Given the description of an element on the screen output the (x, y) to click on. 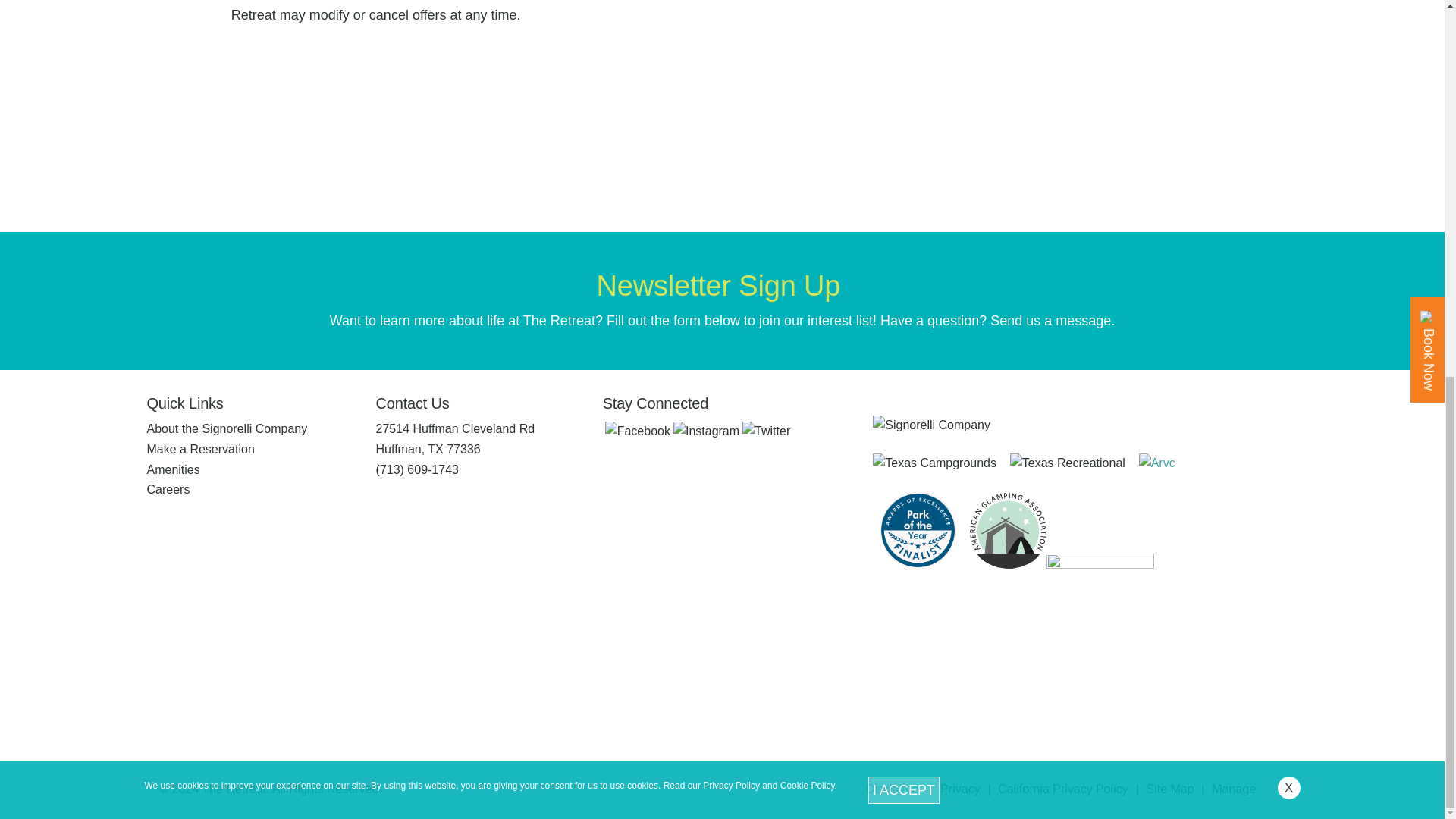
27514 Huffman Cleveland Rd (455, 428)
Make a Reservation (200, 449)
Amenities (173, 469)
Texas Recreational Vehicle Association (1067, 462)
Huffman, TX 77336 (427, 449)
Arvc (1149, 462)
Texas Campgrounds (933, 462)
Arvc (1002, 462)
About the Signorelli Company (227, 428)
Careers (168, 489)
